Given the description of an element on the screen output the (x, y) to click on. 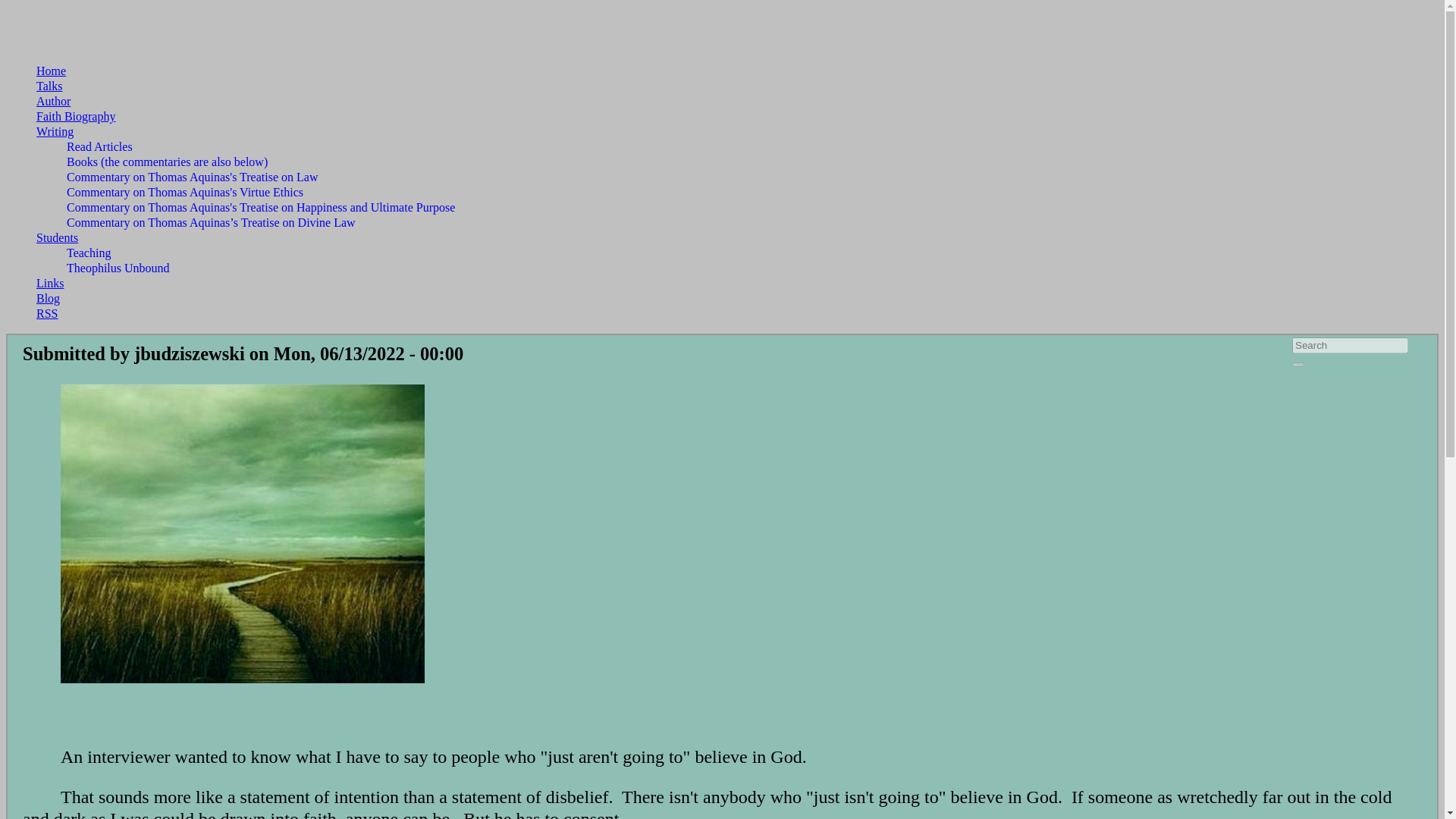
Talks (49, 85)
Home (50, 70)
RSS (47, 313)
Faith Biography (75, 115)
Search (1298, 364)
Teaching (88, 252)
Author (52, 101)
Links (50, 282)
